Given the description of an element on the screen output the (x, y) to click on. 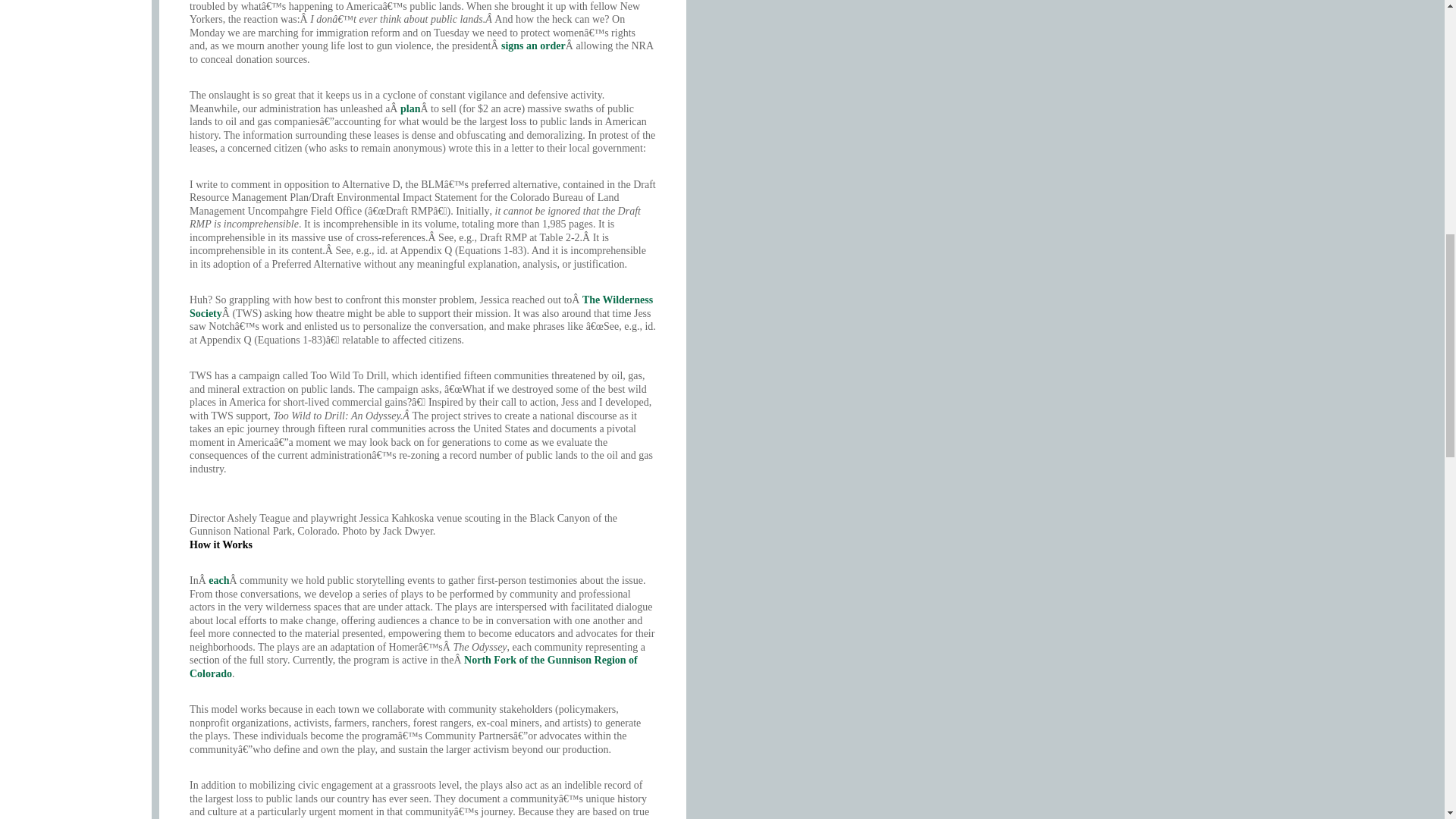
signs an order (533, 45)
North Fork of the Gunnison Region of Colorado (413, 666)
The Wilderness Society (420, 306)
plan (410, 108)
each (218, 580)
